Given the description of an element on the screen output the (x, y) to click on. 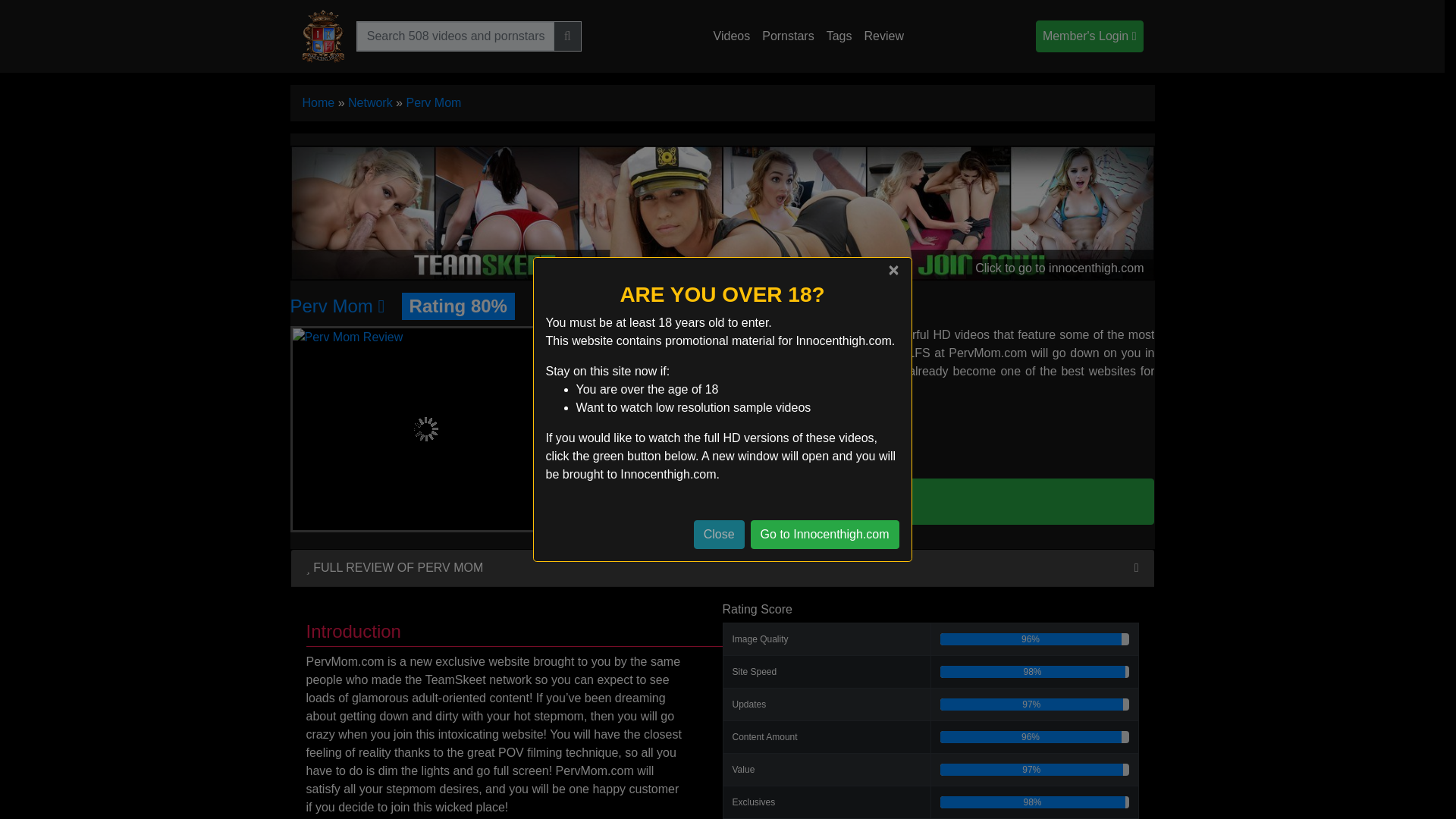
Member's Login (1088, 36)
Visit Perv Mom (336, 305)
Perv Mom (336, 305)
View all innocenthigh.com pornstars and their free videos (787, 36)
Videos (732, 36)
Perv Mom (433, 102)
VISIT SITE (869, 501)
FULL REVIEW OF PERV MOM (394, 567)
Visit Perv Mom (425, 428)
Pornstars (787, 36)
innocenthigh.com review (882, 36)
Review (882, 36)
Network (370, 102)
Home (317, 102)
All Tags (840, 36)
